Given the description of an element on the screen output the (x, y) to click on. 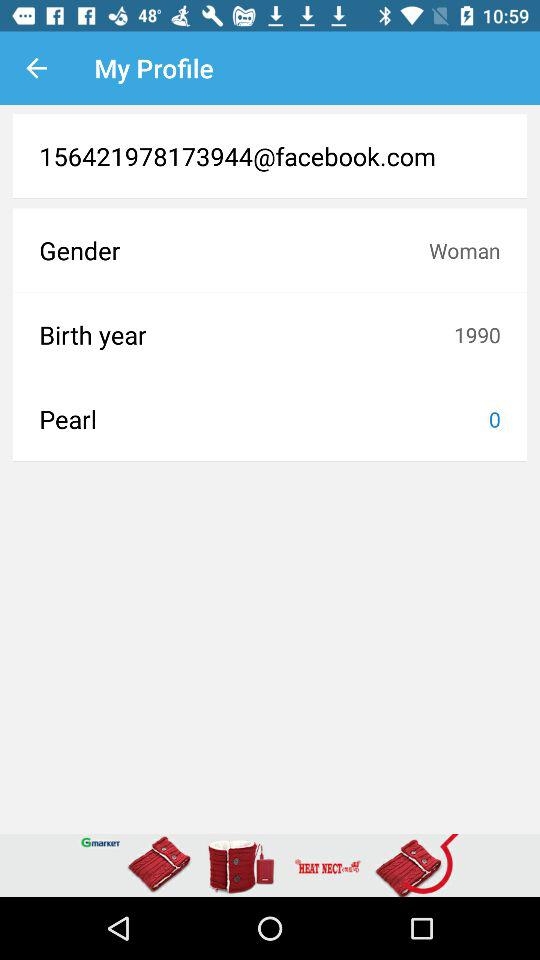
press icon next to the birth year icon (477, 334)
